Given the description of an element on the screen output the (x, y) to click on. 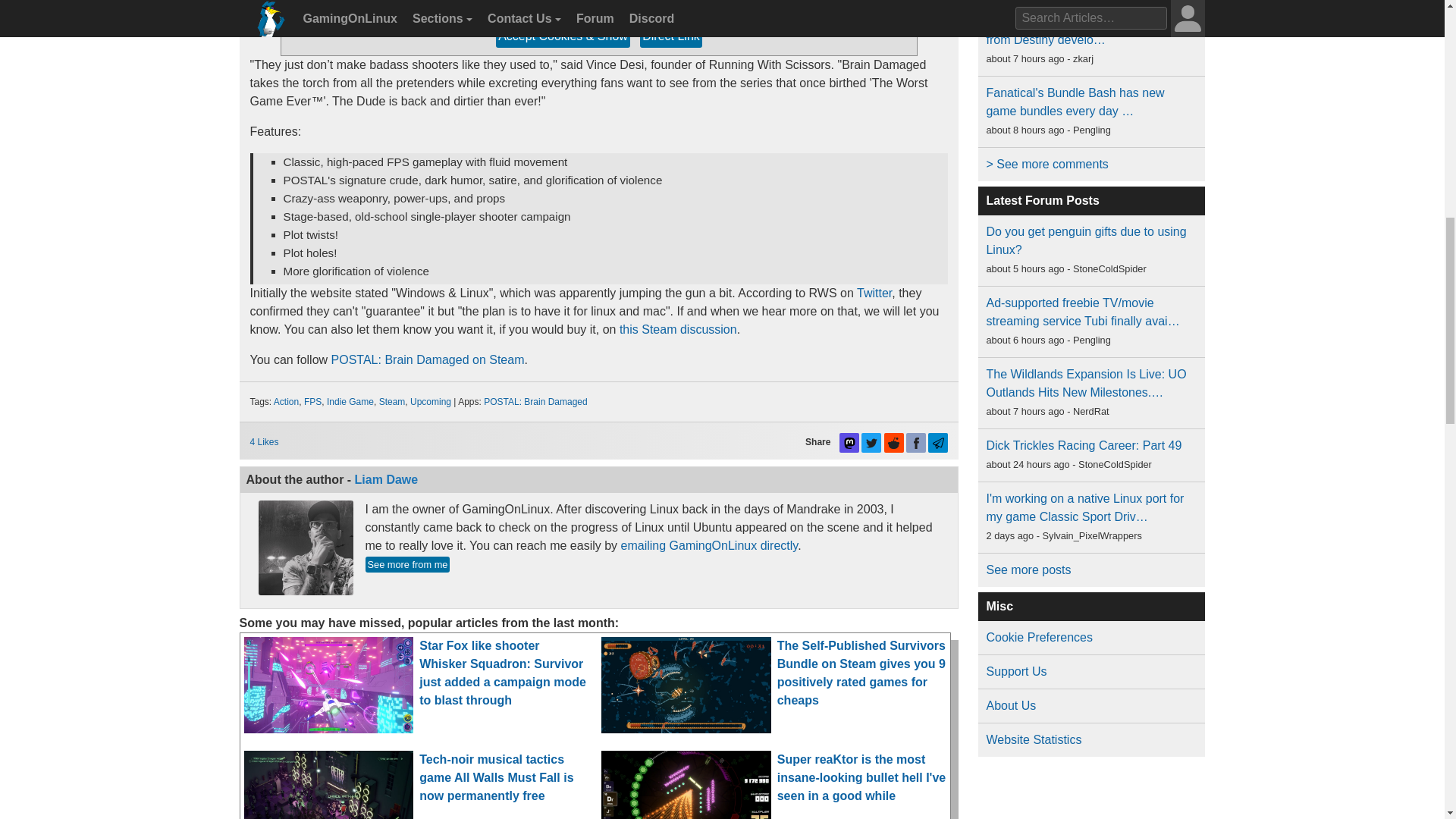
Share to Mastodon (849, 442)
